Given the description of an element on the screen output the (x, y) to click on. 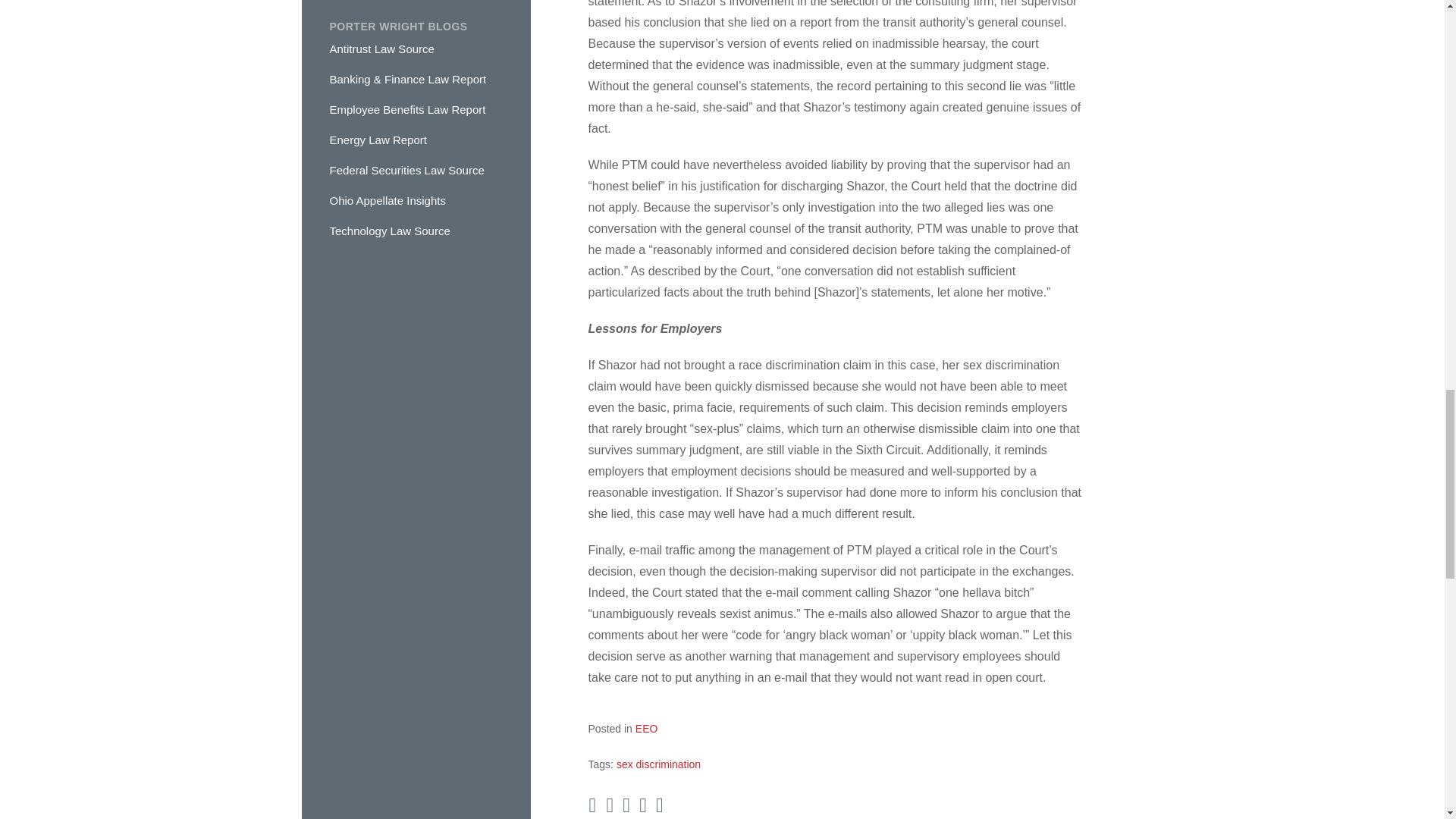
sex discrimination (657, 764)
Technology Law Source (389, 230)
Federal Securities Law Source (406, 169)
Employee Benefits Law Report (406, 109)
Energy Law Report (377, 139)
EEO (646, 728)
